Given the description of an element on the screen output the (x, y) to click on. 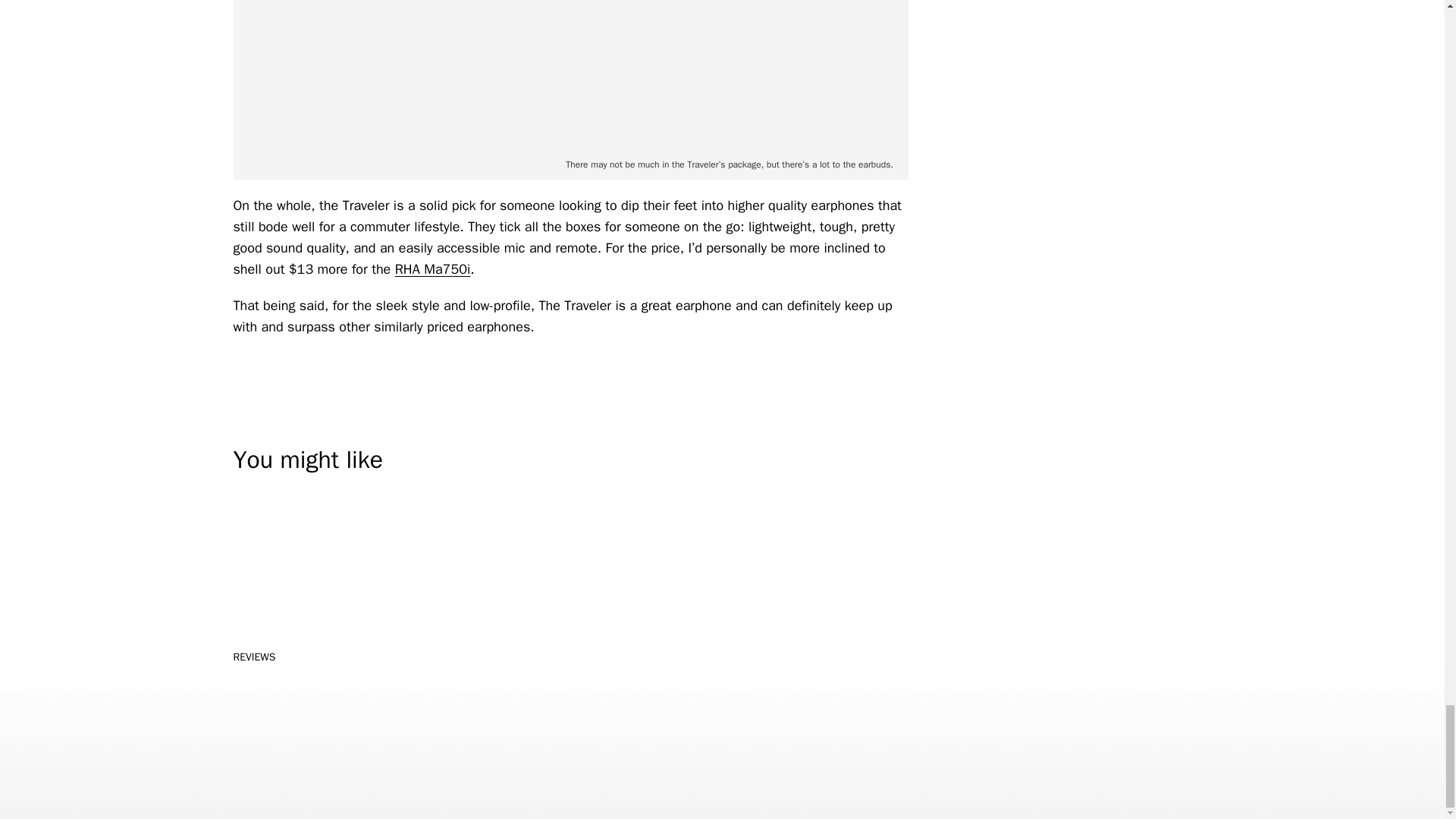
REVIEWS (254, 656)
Traveler01 (570, 74)
RHA Ma750i (432, 269)
